Given the description of an element on the screen output the (x, y) to click on. 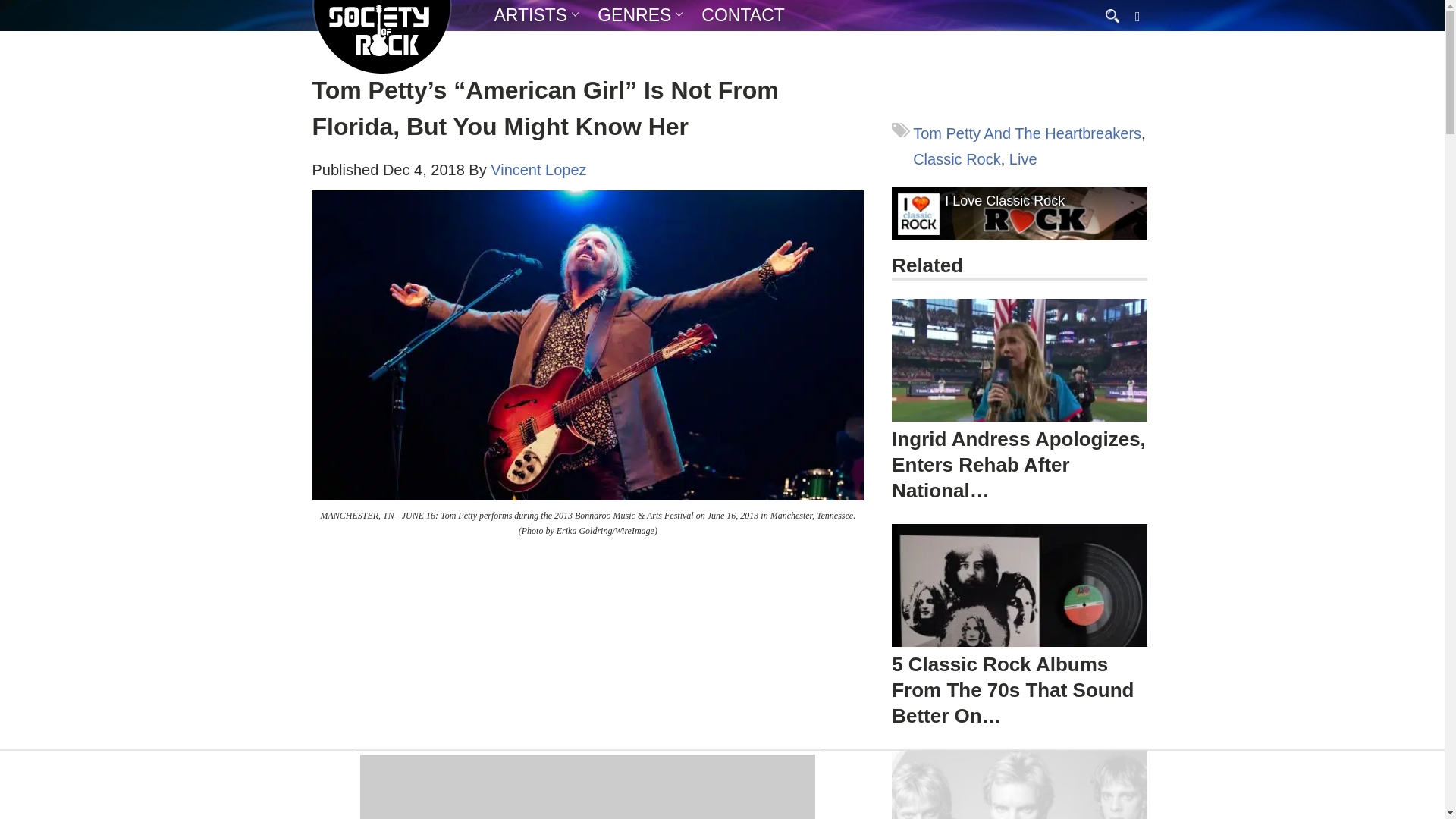
ABOUT (577, 45)
I Love Classic Rock (1004, 201)
GENRES (633, 15)
Search (15, 6)
ARTISTS (531, 15)
CONTACT (742, 15)
